Given the description of an element on the screen output the (x, y) to click on. 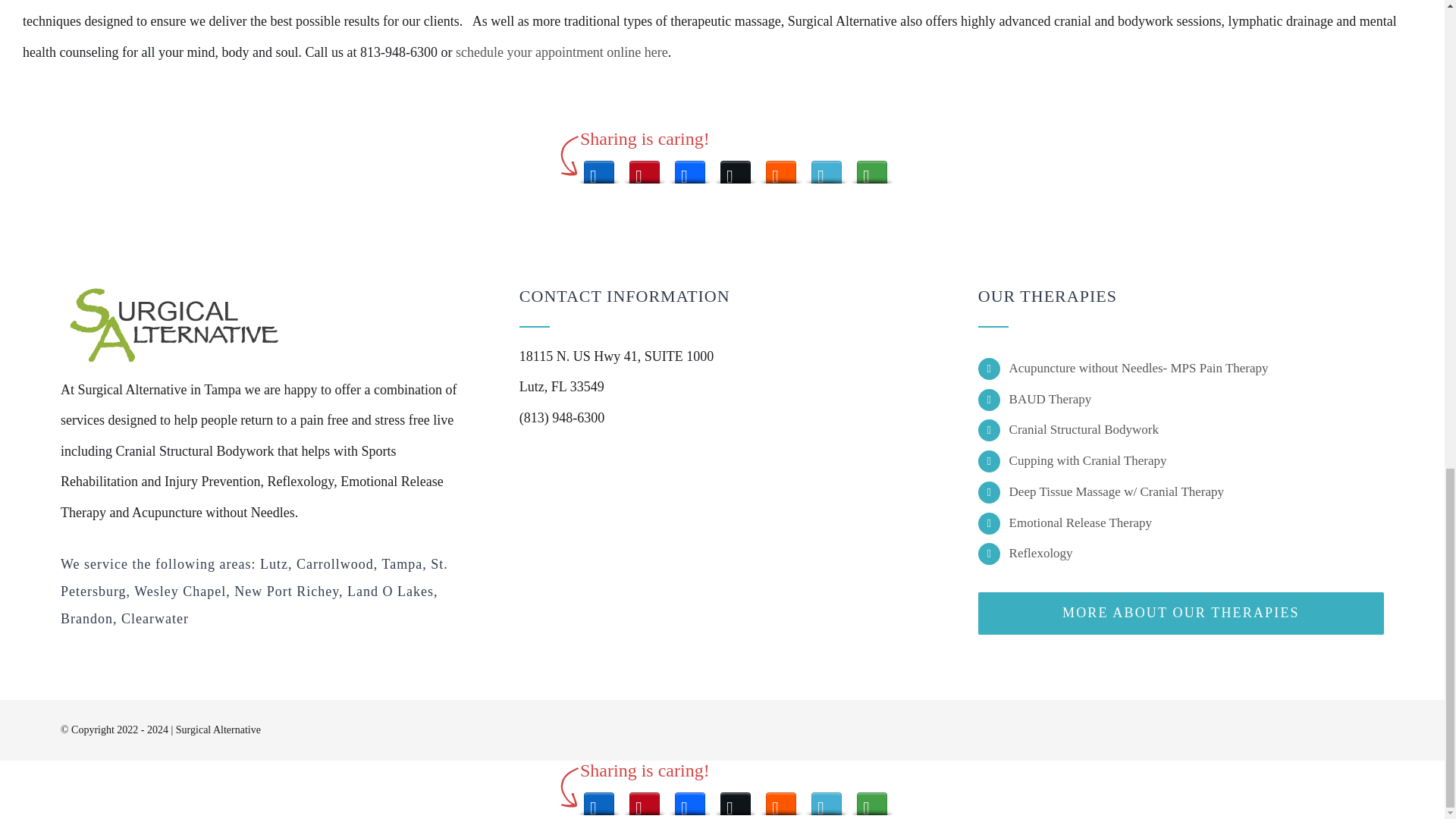
LinkedIn (598, 168)
Facebook (689, 168)
Yammer (825, 168)
More Options (871, 168)
surgical-alternative-dark (174, 326)
Reddit (780, 168)
Pinterest (643, 168)
